Given the description of an element on the screen output the (x, y) to click on. 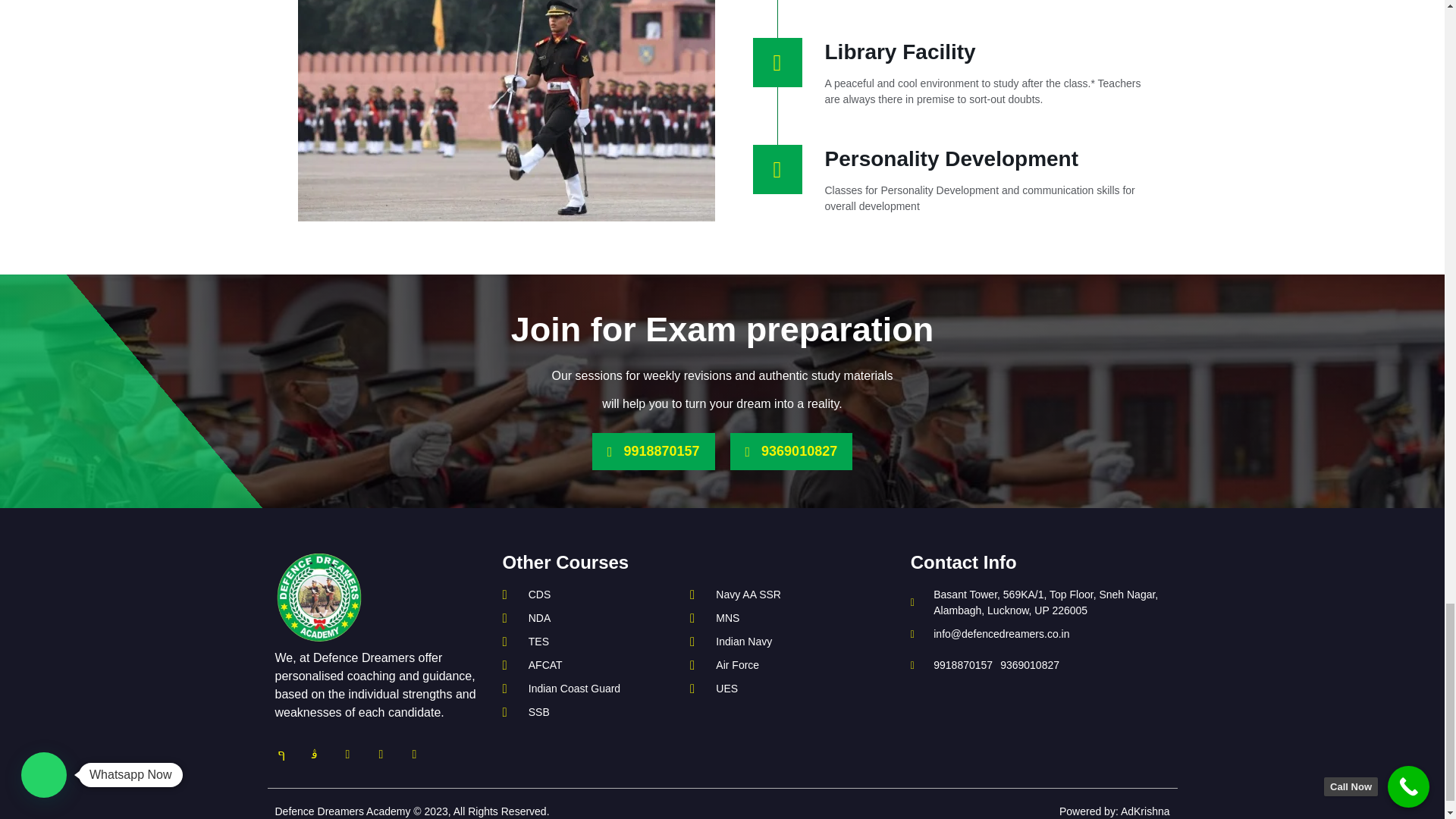
MNS (769, 618)
Indian Navy (769, 641)
CDS (588, 594)
Navy AA SSR (769, 594)
TES (588, 641)
9918870157 (653, 451)
UES (769, 688)
AFCAT (588, 665)
Air Force (769, 665)
NDA (588, 618)
